Given the description of an element on the screen output the (x, y) to click on. 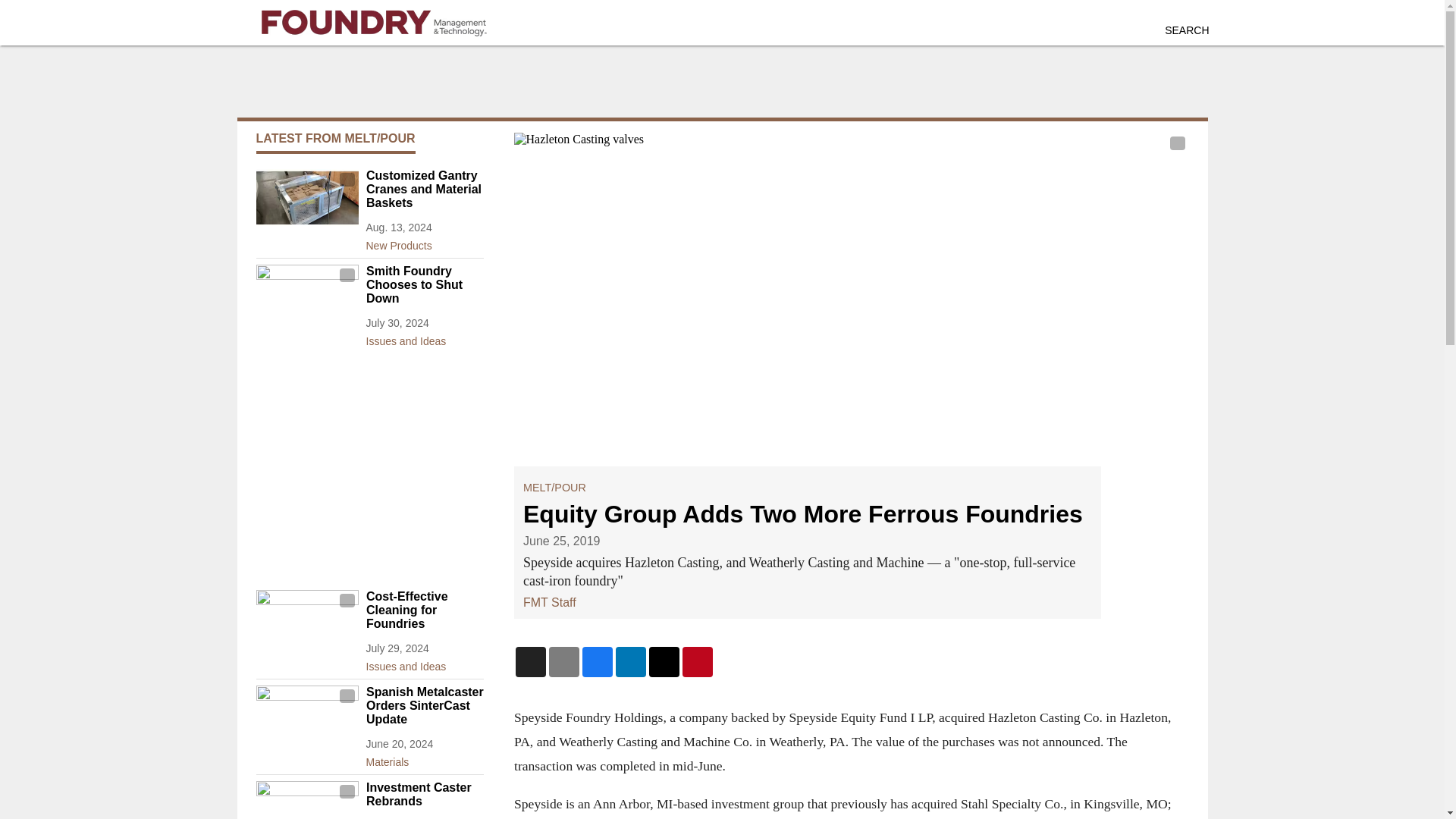
Cost-Effective Cleaning for Foundries (424, 609)
New Products (424, 242)
Issues and Ideas (424, 663)
Customized Gantry Cranes and Material Baskets (424, 188)
SEARCH (1186, 30)
FMT Staff (549, 602)
Investment Caster Rebrands (424, 794)
Smith Foundry Chooses to Shut Down (424, 284)
Issues and Ideas (424, 338)
